Given the description of an element on the screen output the (x, y) to click on. 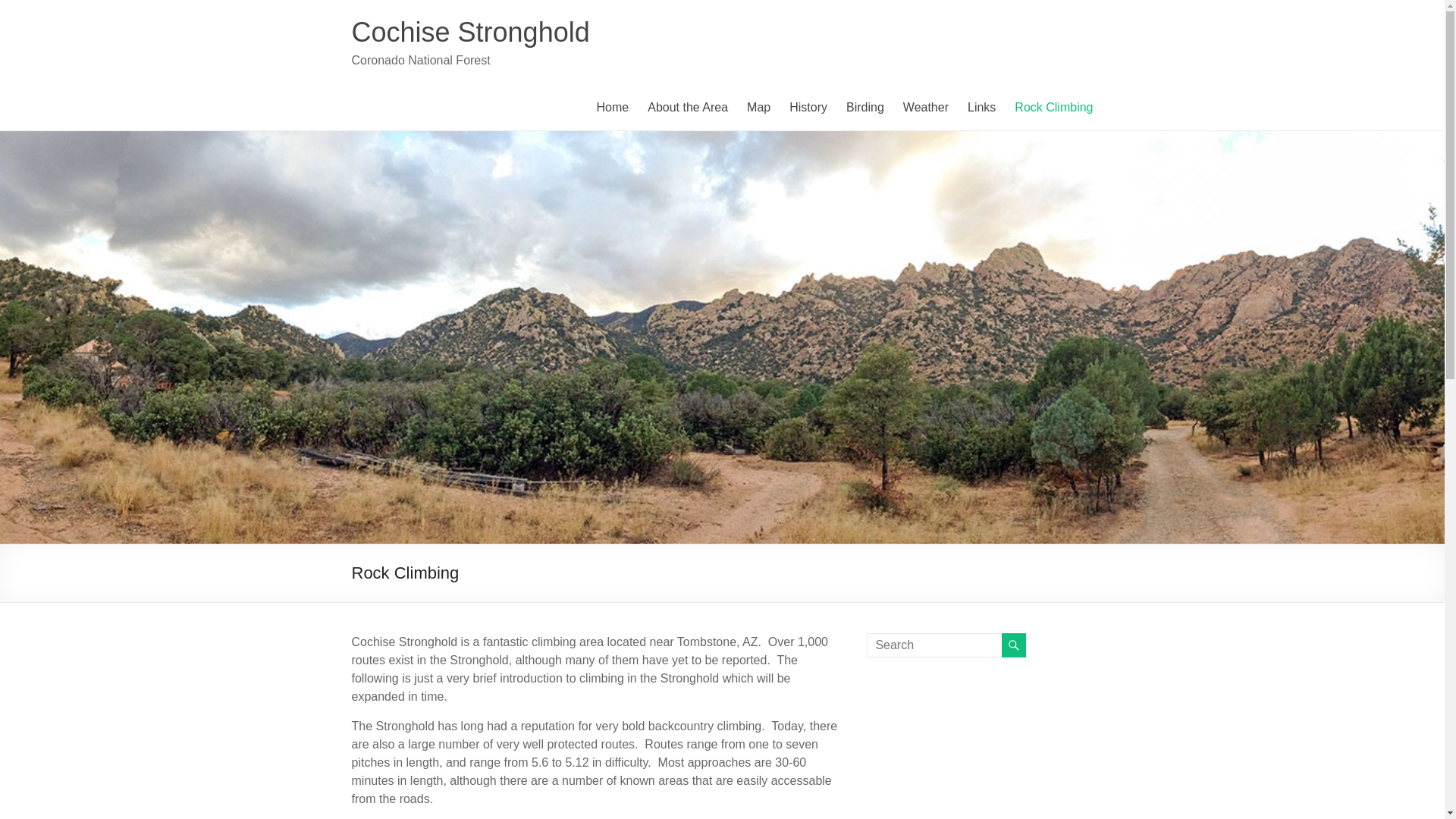
Home (612, 107)
Map (758, 107)
Cochise Stronghold (470, 31)
Birding (864, 107)
Rock Climbing (1053, 107)
Cochise Stronghold (470, 31)
Links (981, 107)
Weather (925, 107)
History (808, 107)
About the Area (687, 107)
